Given the description of an element on the screen output the (x, y) to click on. 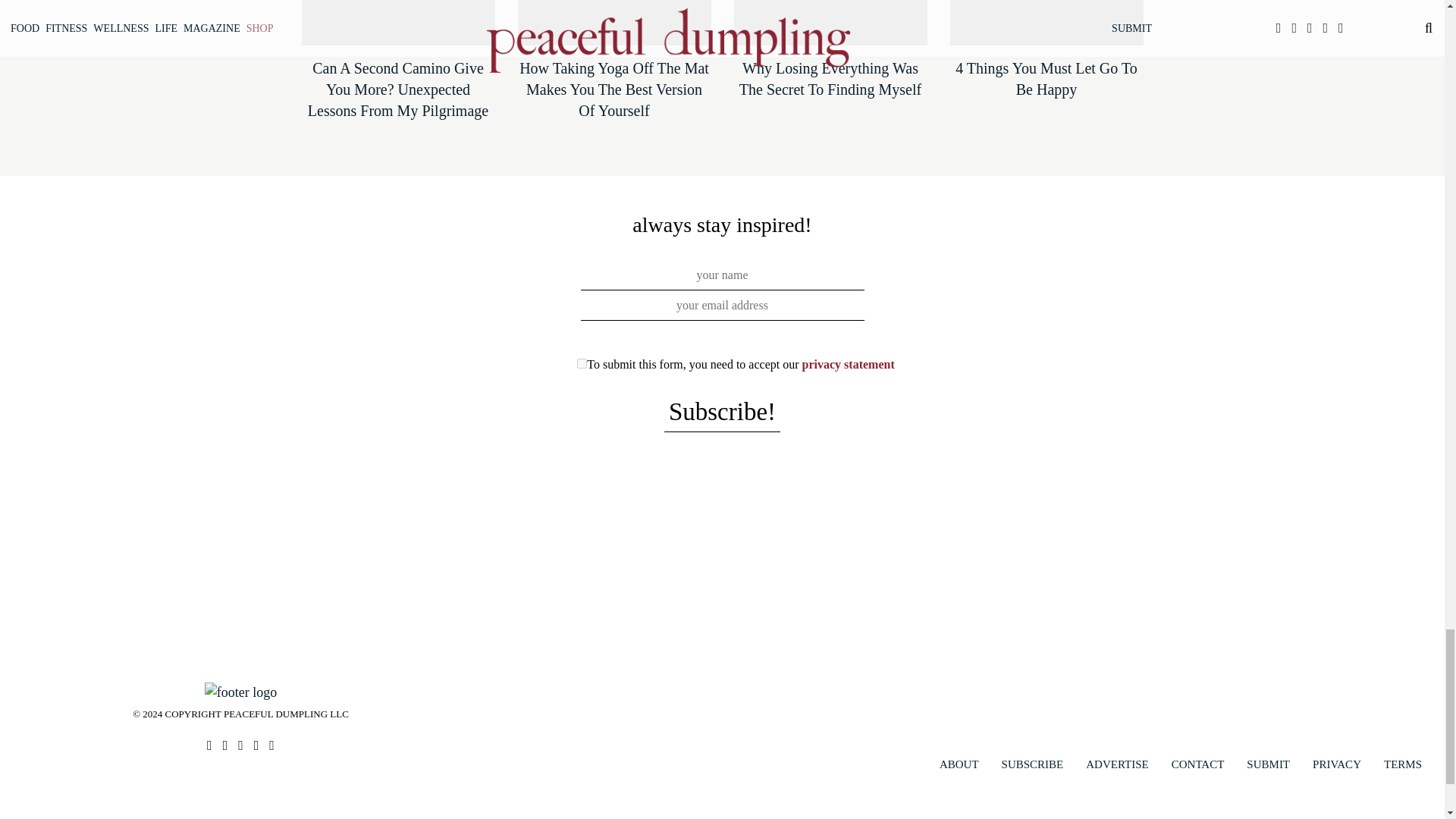
Peaceful Dumpling (240, 690)
Subscribe! (721, 413)
1 (581, 363)
